Given the description of an element on the screen output the (x, y) to click on. 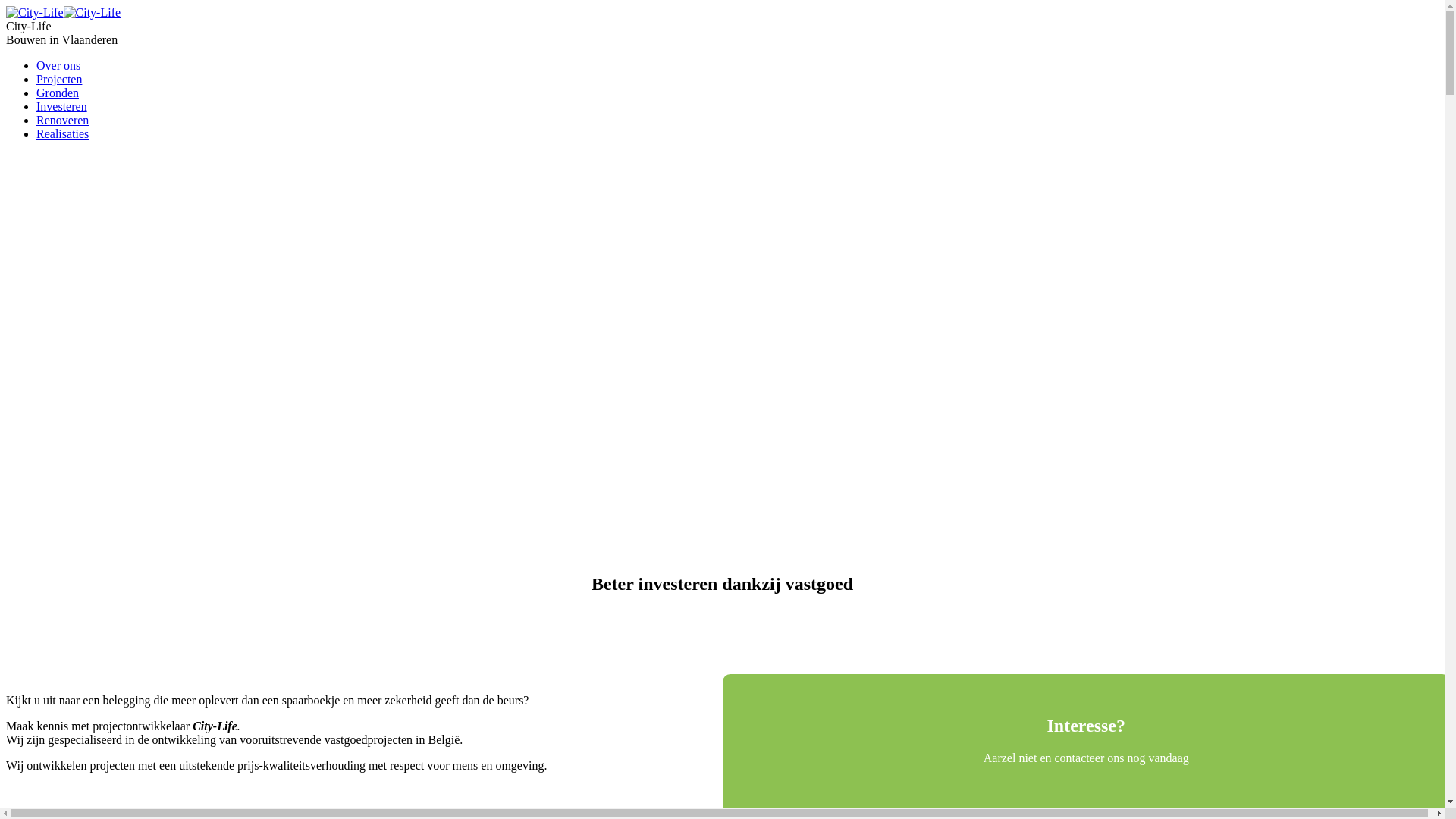
Renoveren Element type: text (62, 119)
Projecten Element type: text (58, 78)
Gronden Element type: text (57, 92)
Investeren Element type: text (61, 106)
Realisaties Element type: text (62, 133)
Over ons Element type: text (58, 65)
